Given the description of an element on the screen output the (x, y) to click on. 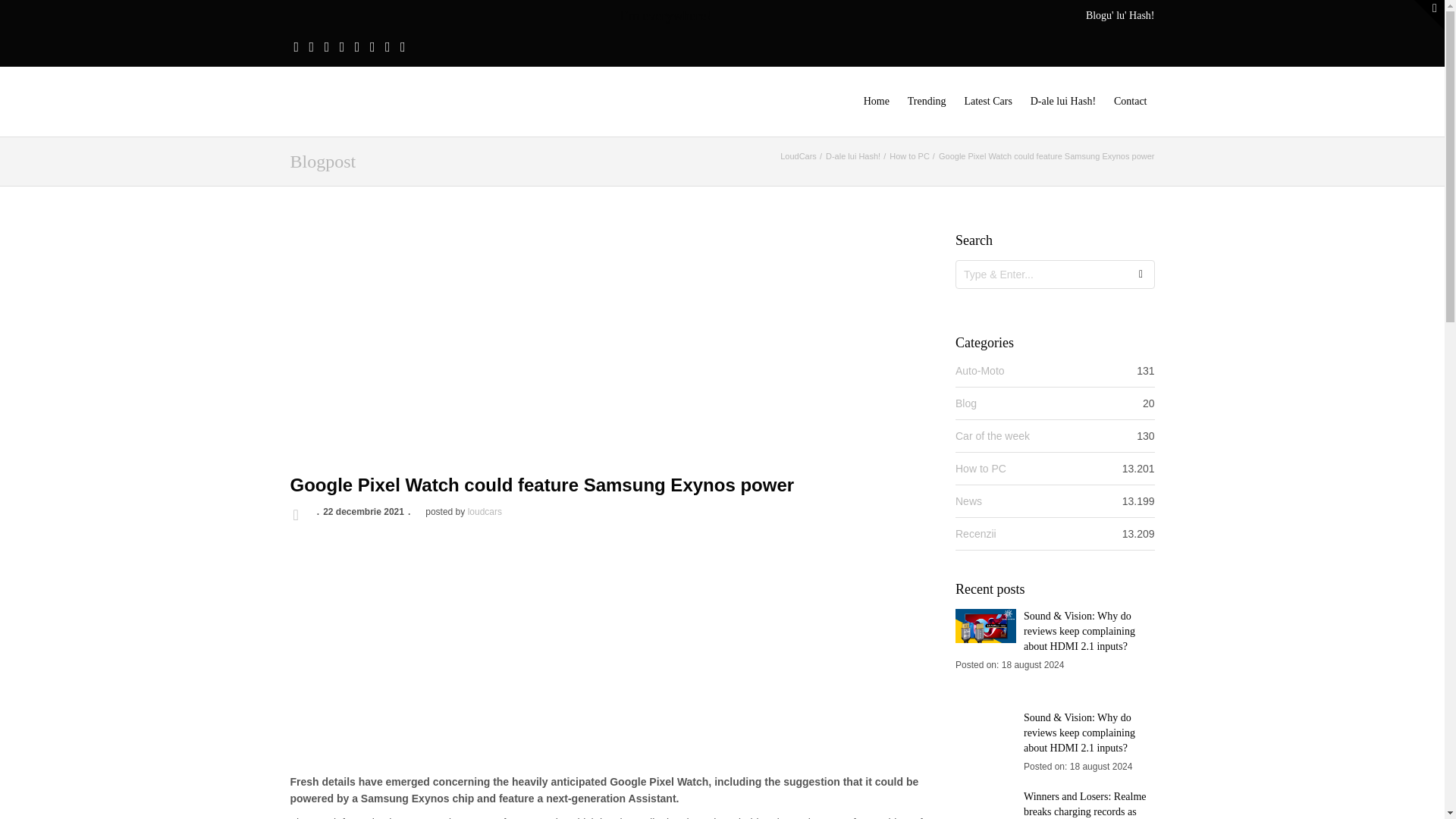
D-ale lui Hash! (1063, 101)
Latest Cars (987, 101)
LoudCars (798, 155)
loudcars (484, 511)
Contact (1130, 101)
Trending (926, 101)
D-ale lui Hash! (852, 155)
How to PC (909, 155)
Home (876, 101)
